Given the description of an element on the screen output the (x, y) to click on. 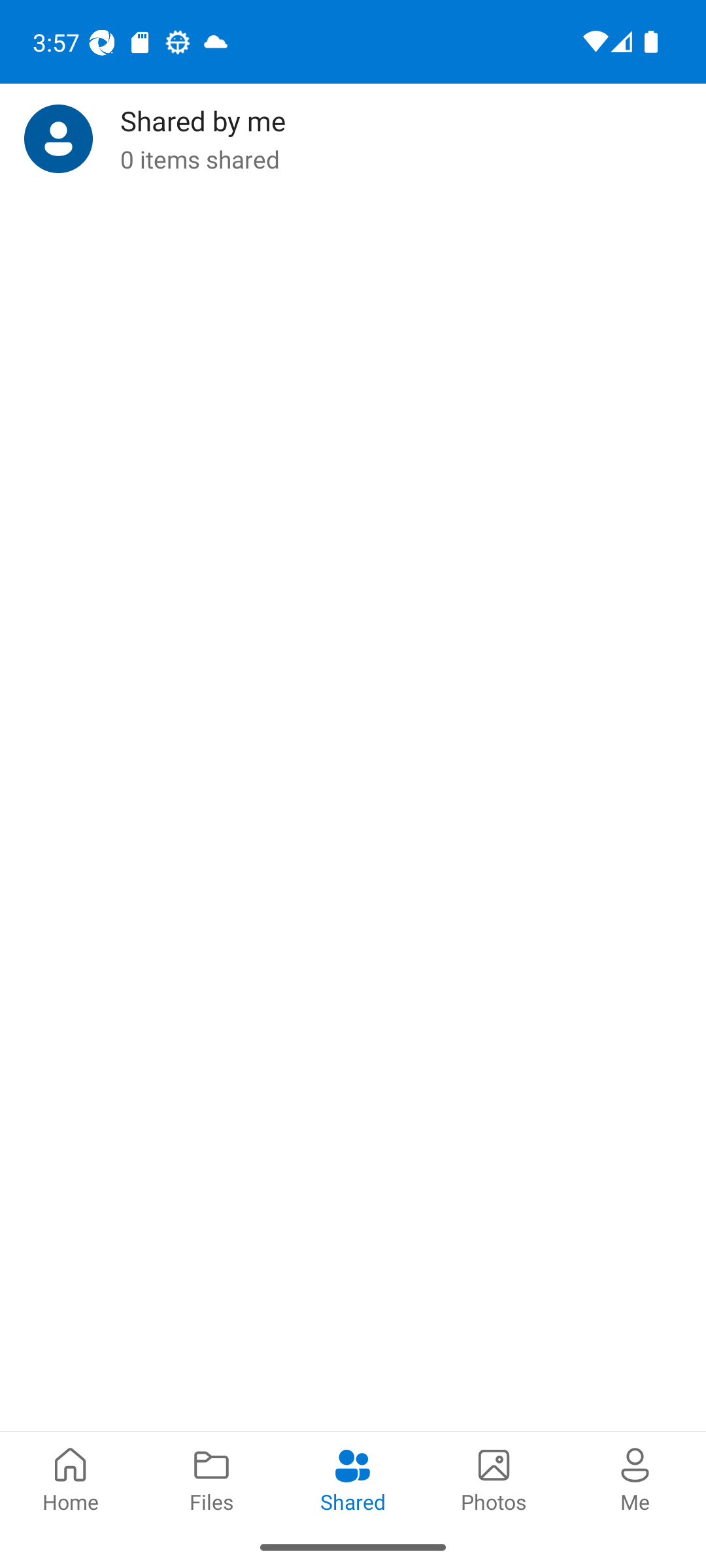
0 Shared by me 0 items shared (353, 138)
Home pivot Home (70, 1478)
Files pivot Files (211, 1478)
Photos pivot Photos (493, 1478)
Me pivot Me (635, 1478)
